Given the description of an element on the screen output the (x, y) to click on. 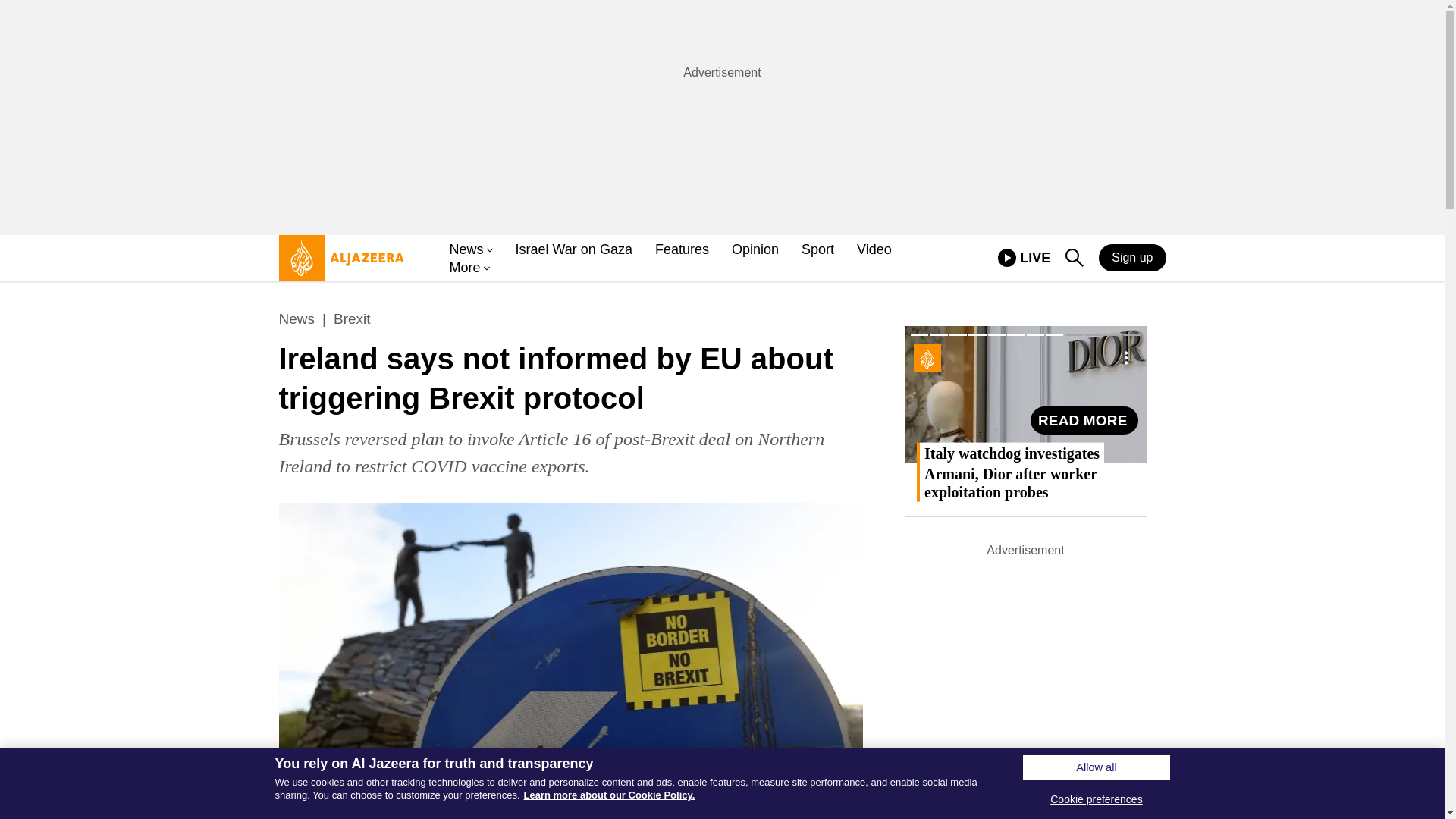
Sport (818, 249)
search (1074, 257)
Features (682, 249)
play (1006, 257)
Opinion (755, 249)
Sign up (1074, 259)
Video (1132, 257)
3rd party ad content (874, 249)
News (721, 117)
Skip to Content (465, 249)
Israel War on Gaza (337, 264)
Brexit (573, 249)
